Given the description of an element on the screen output the (x, y) to click on. 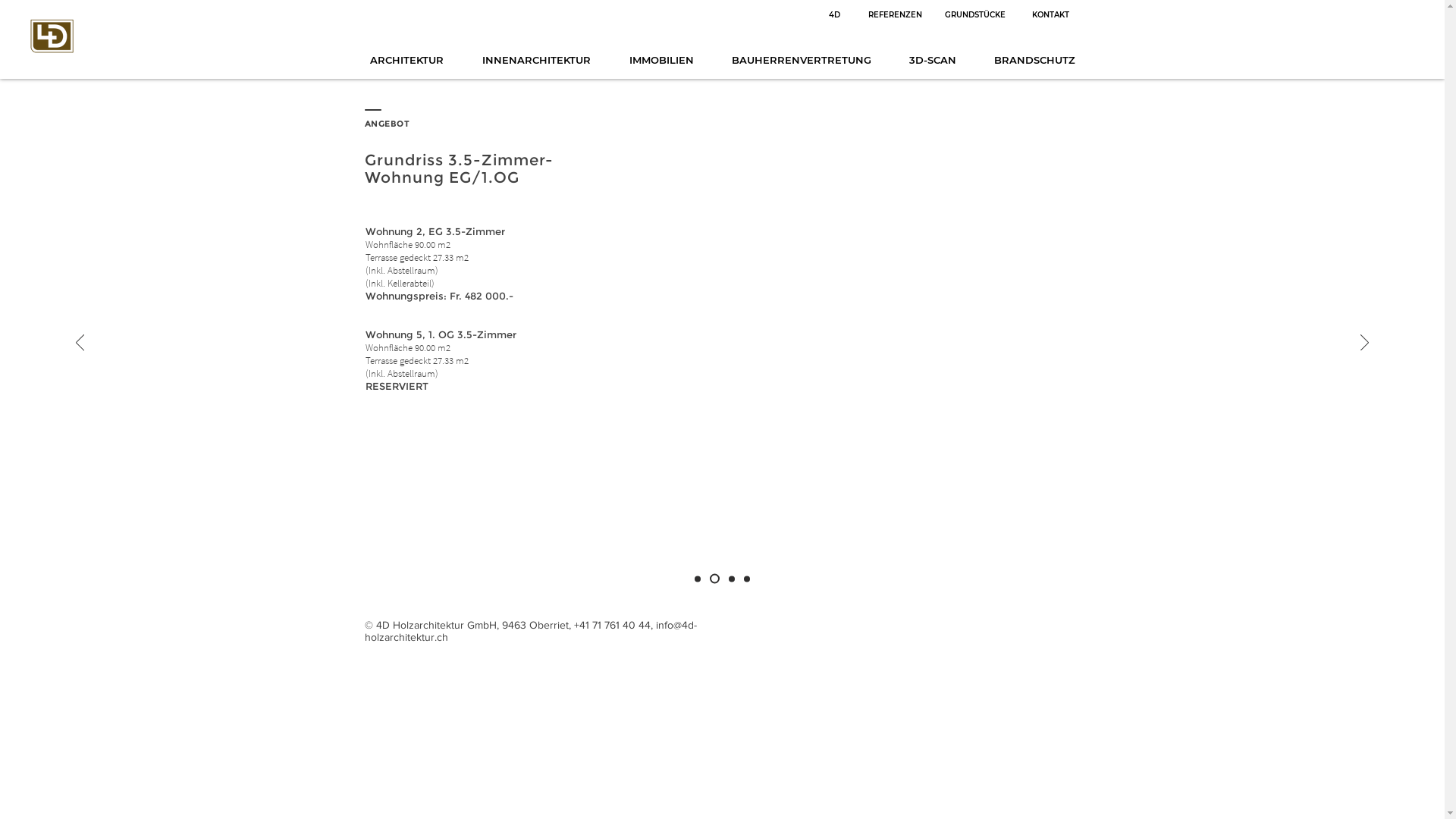
REFERENZEN Element type: text (894, 15)
BAUHERRENVERTRETUNG Element type: text (801, 59)
KONTAKT Element type: text (1050, 15)
INNENARCHITEKTUR Element type: text (535, 59)
3D-SCAN Element type: text (932, 59)
info@4d-holzarchitektur.ch Element type: text (530, 630)
GR 3.5 Zi EG Mitte.jpg Element type: hover (845, 329)
4D Element type: text (833, 15)
BRANDSCHUTZ Element type: text (1034, 59)
ARCHITEKTUR Element type: text (406, 59)
IMMOBILIEN Element type: text (660, 59)
